Given the description of an element on the screen output the (x, y) to click on. 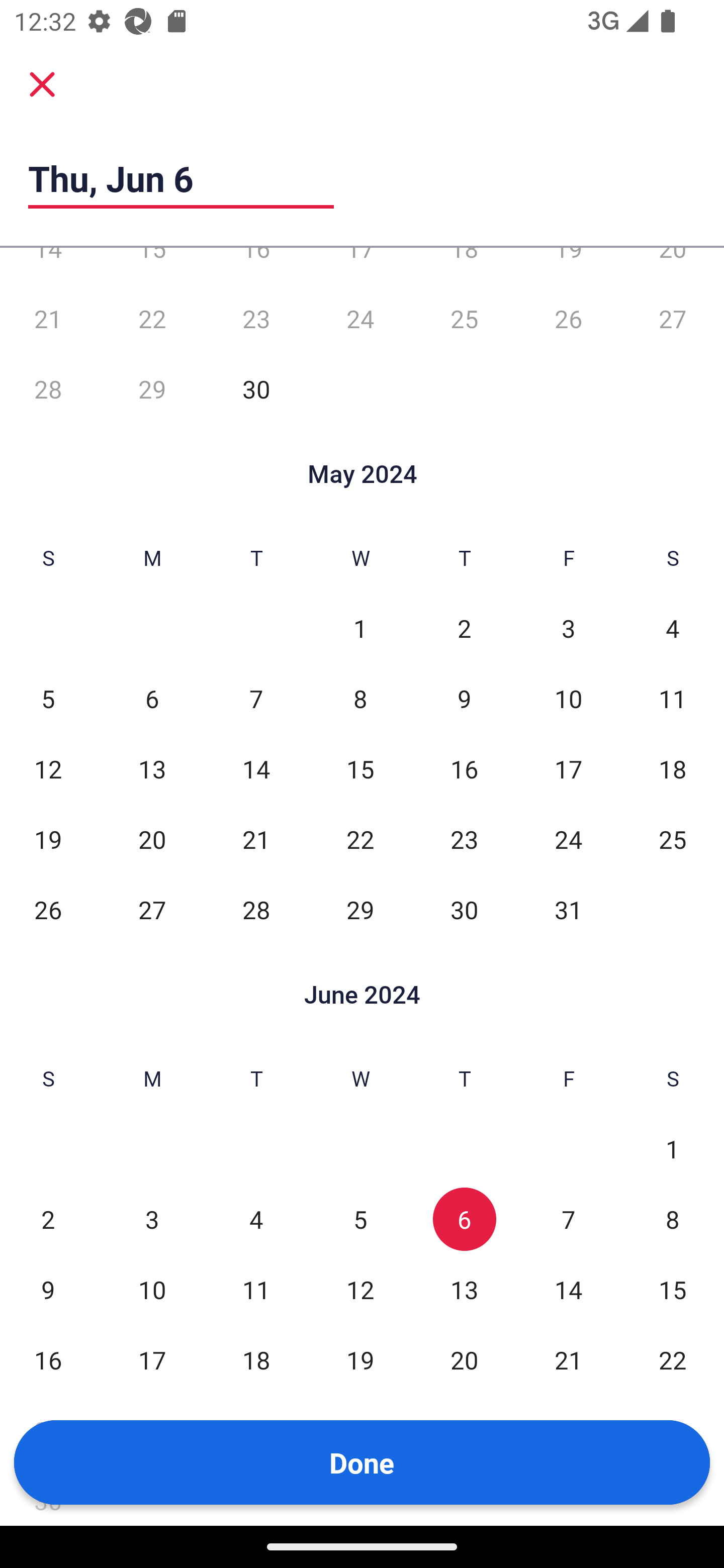
Cancel (42, 84)
Thu, Jun 6 (180, 178)
21 Sun, Apr 21, Not Selected (48, 318)
22 Mon, Apr 22, Not Selected (152, 318)
23 Tue, Apr 23, Not Selected (256, 318)
24 Wed, Apr 24, Not Selected (360, 318)
25 Thu, Apr 25, Not Selected (464, 318)
26 Fri, Apr 26, Not Selected (568, 318)
27 Sat, Apr 27, Not Selected (672, 318)
28 Sun, Apr 28, Not Selected (48, 389)
29 Mon, Apr 29, Not Selected (152, 389)
30 Tue, Apr 30, Not Selected (256, 389)
1 Wed, May 1, Not Selected (360, 627)
2 Thu, May 2, Not Selected (464, 627)
3 Fri, May 3, Not Selected (568, 627)
4 Sat, May 4, Not Selected (672, 627)
5 Sun, May 5, Not Selected (48, 698)
6 Mon, May 6, Not Selected (152, 698)
7 Tue, May 7, Not Selected (256, 698)
8 Wed, May 8, Not Selected (360, 698)
9 Thu, May 9, Not Selected (464, 698)
10 Fri, May 10, Not Selected (568, 698)
11 Sat, May 11, Not Selected (672, 698)
12 Sun, May 12, Not Selected (48, 768)
13 Mon, May 13, Not Selected (152, 768)
14 Tue, May 14, Not Selected (256, 768)
15 Wed, May 15, Not Selected (360, 768)
16 Thu, May 16, Not Selected (464, 768)
17 Fri, May 17, Not Selected (568, 768)
18 Sat, May 18, Not Selected (672, 768)
19 Sun, May 19, Not Selected (48, 839)
20 Mon, May 20, Not Selected (152, 839)
21 Tue, May 21, Not Selected (256, 839)
22 Wed, May 22, Not Selected (360, 839)
23 Thu, May 23, Not Selected (464, 839)
24 Fri, May 24, Not Selected (568, 839)
25 Sat, May 25, Not Selected (672, 839)
26 Sun, May 26, Not Selected (48, 909)
27 Mon, May 27, Not Selected (152, 909)
28 Tue, May 28, Not Selected (256, 909)
29 Wed, May 29, Not Selected (360, 909)
30 Thu, May 30, Not Selected (464, 909)
31 Fri, May 31, Not Selected (568, 909)
1 Sat, Jun 1, Not Selected (672, 1148)
2 Sun, Jun 2, Not Selected (48, 1218)
3 Mon, Jun 3, Not Selected (152, 1218)
4 Tue, Jun 4, Not Selected (256, 1218)
5 Wed, Jun 5, Not Selected (360, 1218)
6 Thu, Jun 6, Selected (464, 1218)
7 Fri, Jun 7, Not Selected (568, 1218)
8 Sat, Jun 8, Not Selected (672, 1218)
9 Sun, Jun 9, Not Selected (48, 1289)
10 Mon, Jun 10, Not Selected (152, 1289)
11 Tue, Jun 11, Not Selected (256, 1289)
12 Wed, Jun 12, Not Selected (360, 1289)
13 Thu, Jun 13, Not Selected (464, 1289)
14 Fri, Jun 14, Not Selected (568, 1289)
15 Sat, Jun 15, Not Selected (672, 1289)
16 Sun, Jun 16, Not Selected (48, 1359)
17 Mon, Jun 17, Not Selected (152, 1359)
18 Tue, Jun 18, Not Selected (256, 1359)
19 Wed, Jun 19, Not Selected (360, 1359)
20 Thu, Jun 20, Not Selected (464, 1359)
21 Fri, Jun 21, Not Selected (568, 1359)
22 Sat, Jun 22, Not Selected (672, 1359)
Done Button Done (361, 1462)
